Given the description of an element on the screen output the (x, y) to click on. 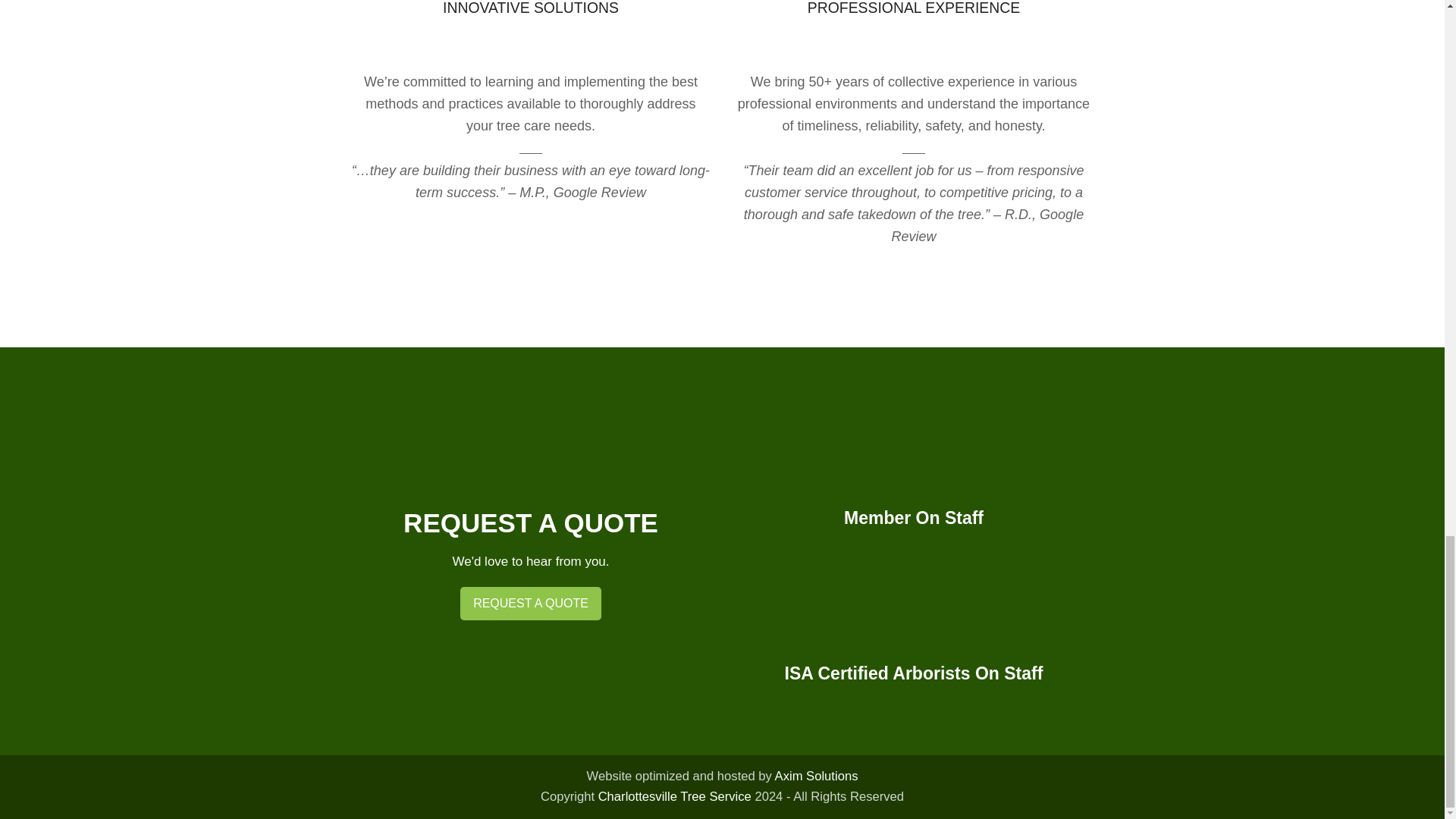
Charlottesville Tree Service (674, 796)
Request a Quote (530, 603)
REQUEST A QUOTE (530, 603)
Axim Solutions (816, 775)
